Given the description of an element on the screen output the (x, y) to click on. 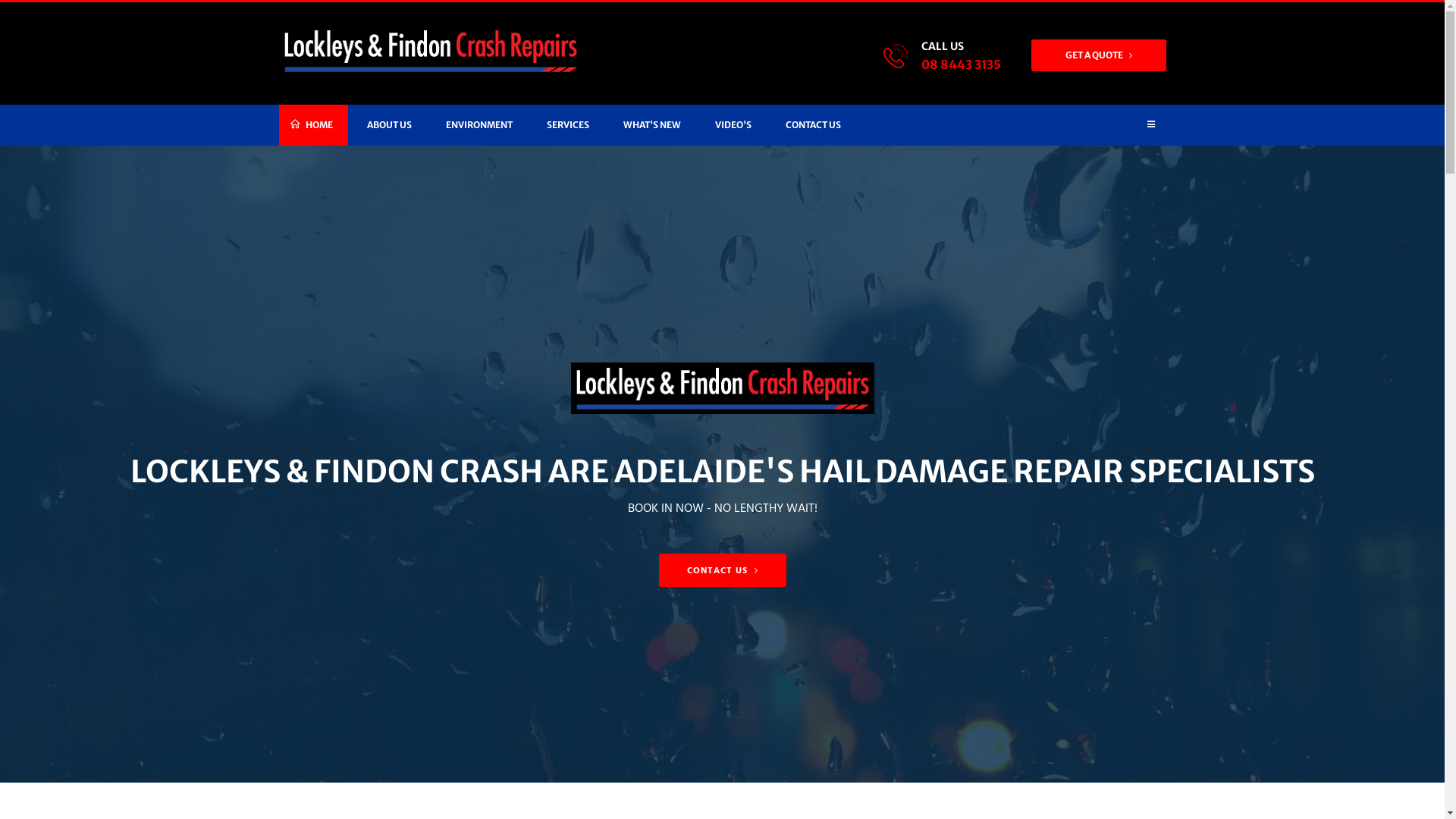
ENVIRONMENT Element type: text (478, 124)
GET A QUOTE Element type: text (1098, 55)
CONTACT US Element type: text (721, 569)
SERVICES Element type: text (566, 124)
HOME Element type: text (313, 124)
Lockleys & Findon Crash Repairs Element type: hover (430, 50)
WHAT'S NEW Element type: text (652, 124)
CALL US
08 8443 3135 Element type: text (960, 55)
VIDEO'S Element type: text (732, 124)
CONTACT US Element type: text (813, 124)
ABOUT US Element type: text (388, 124)
